Given the description of an element on the screen output the (x, y) to click on. 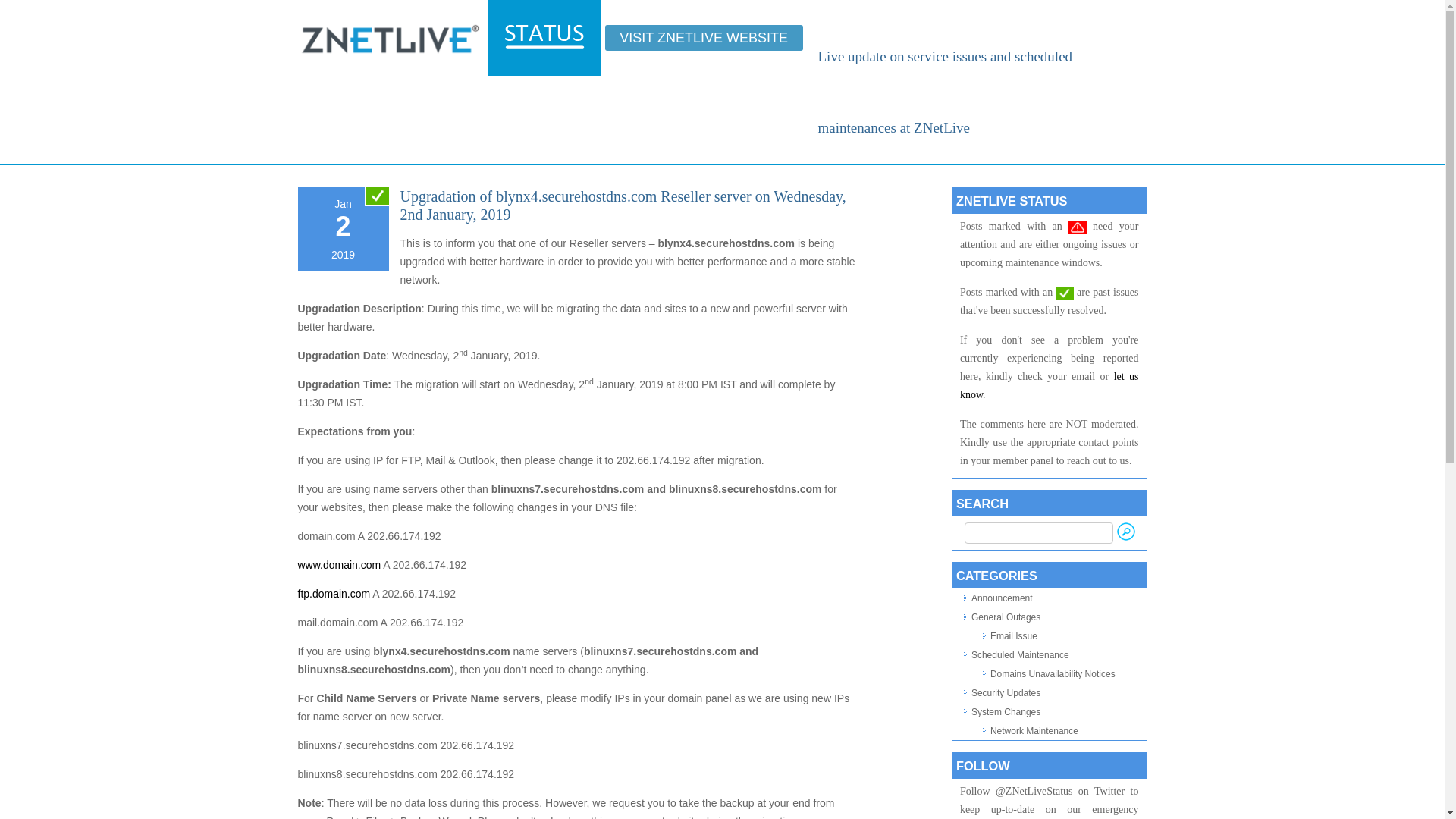
Network Maintenance (1034, 730)
let us know (1048, 385)
ftp.domain.com (333, 593)
VISIT ZNETLIVE WEBSITE (704, 37)
Announcement (1001, 597)
Resolved Issues (1064, 293)
www.domain.com (338, 564)
Email Issue (1013, 635)
Security Updates (1006, 692)
